Given the description of an element on the screen output the (x, y) to click on. 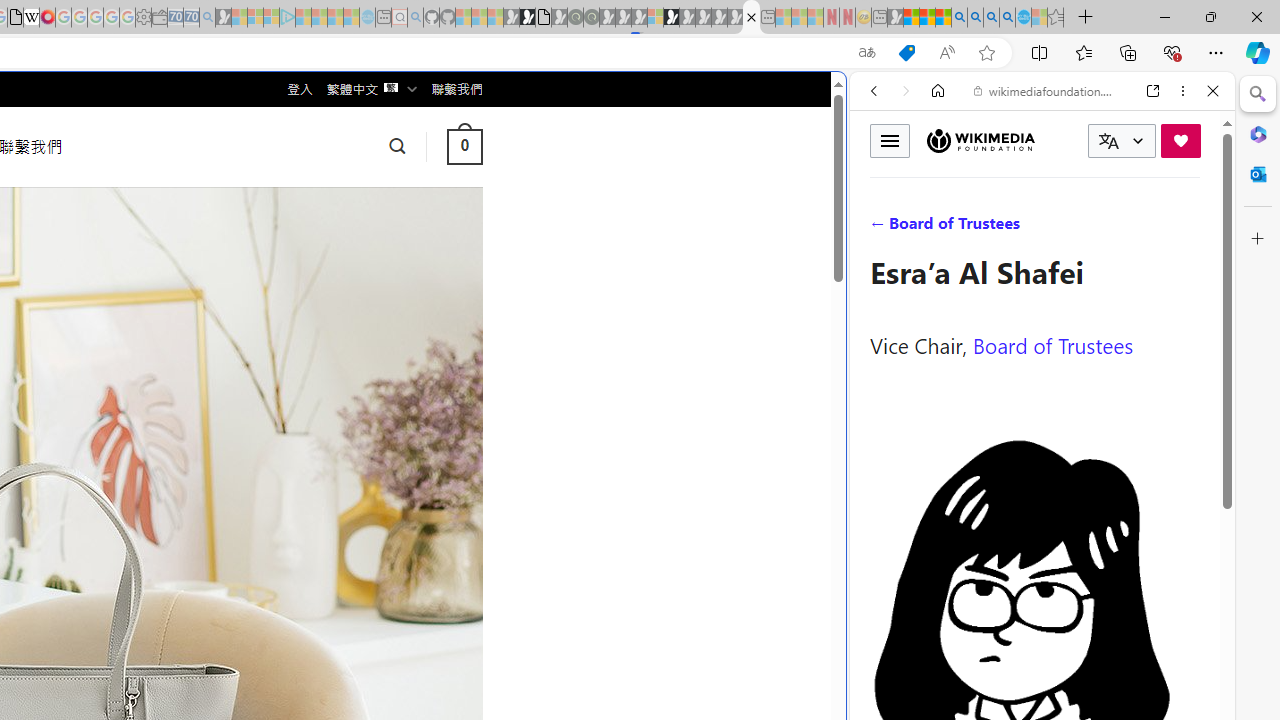
Global web icon (888, 669)
MSN - Sleeping (895, 17)
Back (874, 91)
Bing Real Estate - Home sales and rental listings - Sleeping (207, 17)
Close tab (751, 16)
Class: b_serphb (1190, 229)
Frequently visited (418, 265)
Tabs you've opened (276, 265)
